Given the description of an element on the screen output the (x, y) to click on. 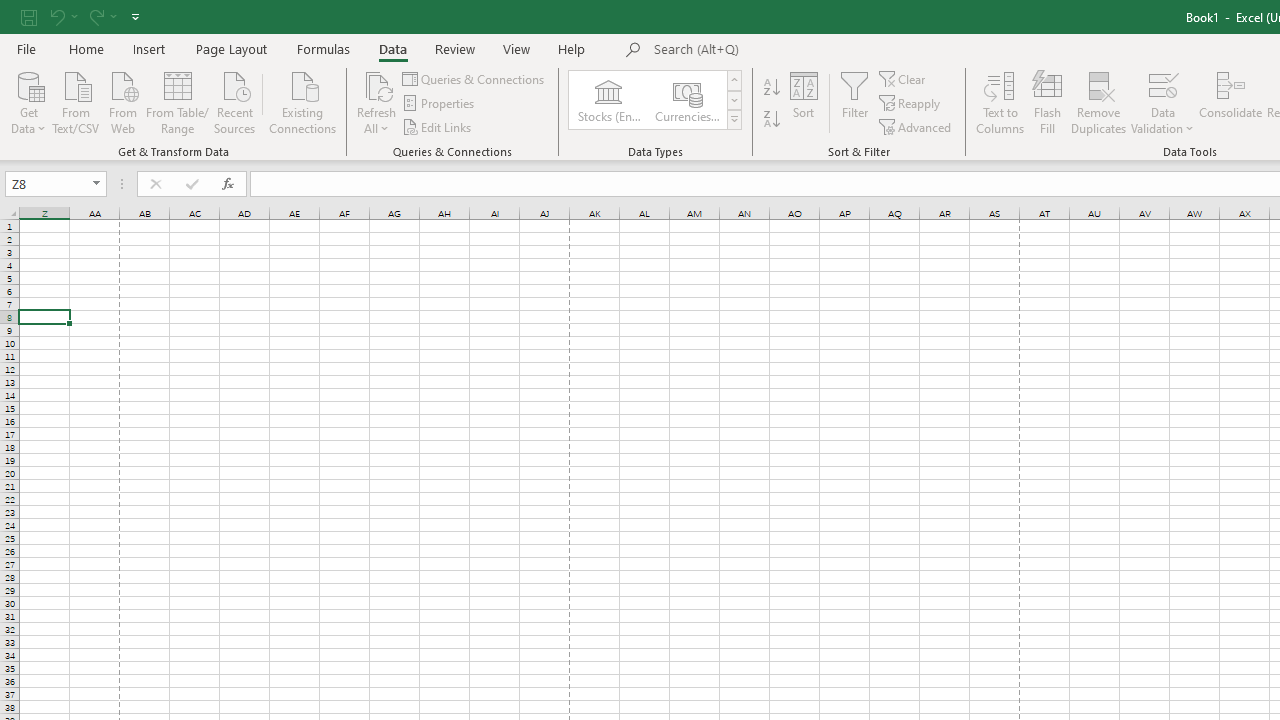
Remove Duplicates (1098, 102)
Flash Fill (1047, 102)
